Given the description of an element on the screen output the (x, y) to click on. 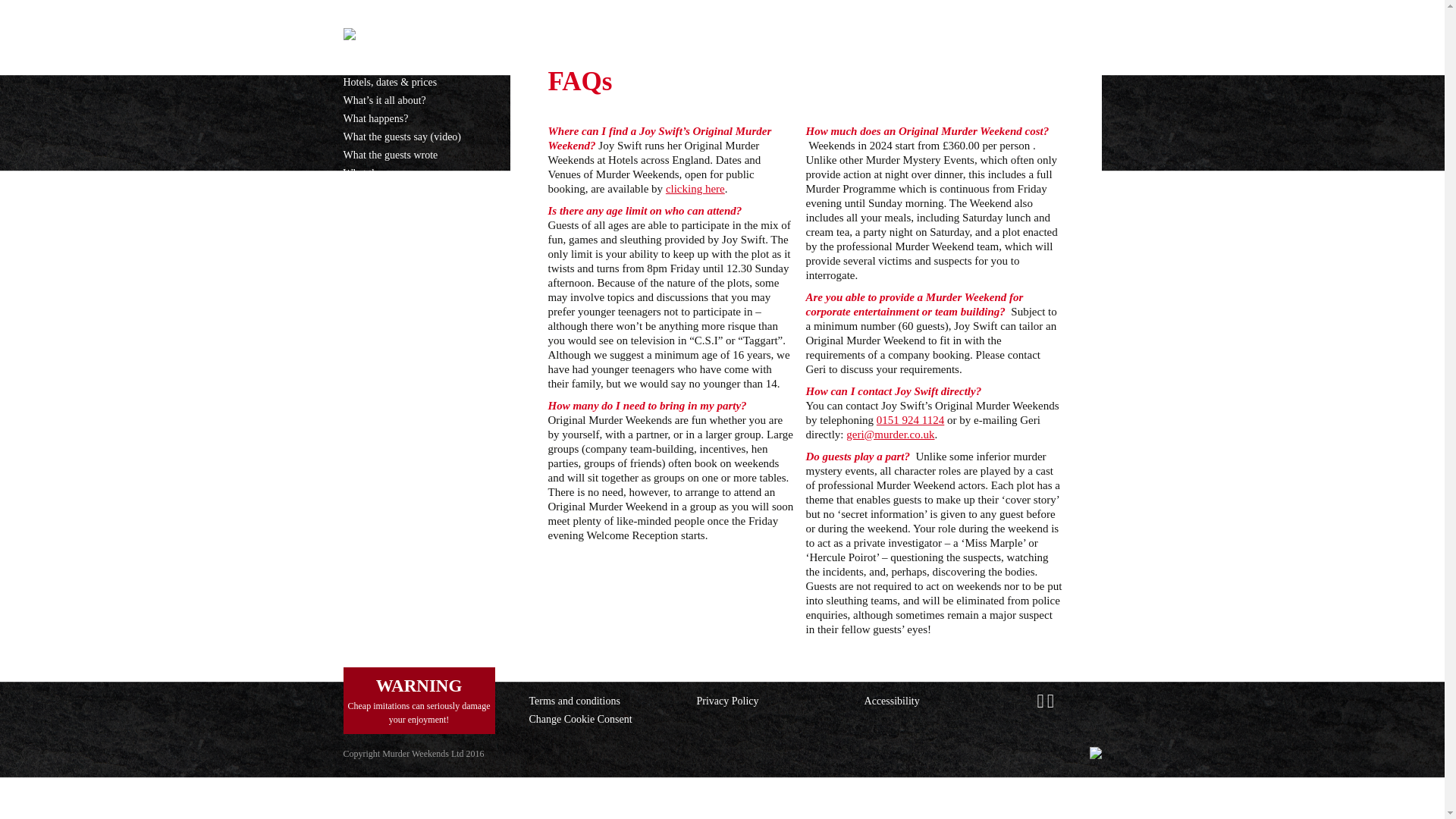
Theme Details (373, 191)
Privacy Policy (727, 699)
Contact Us (366, 337)
clicking here (695, 187)
Terms and conditions (574, 699)
FAQs (354, 282)
0151 924 1124 (909, 419)
Play Online (367, 373)
What happens? (374, 118)
TV coverage (369, 227)
